Given the description of an element on the screen output the (x, y) to click on. 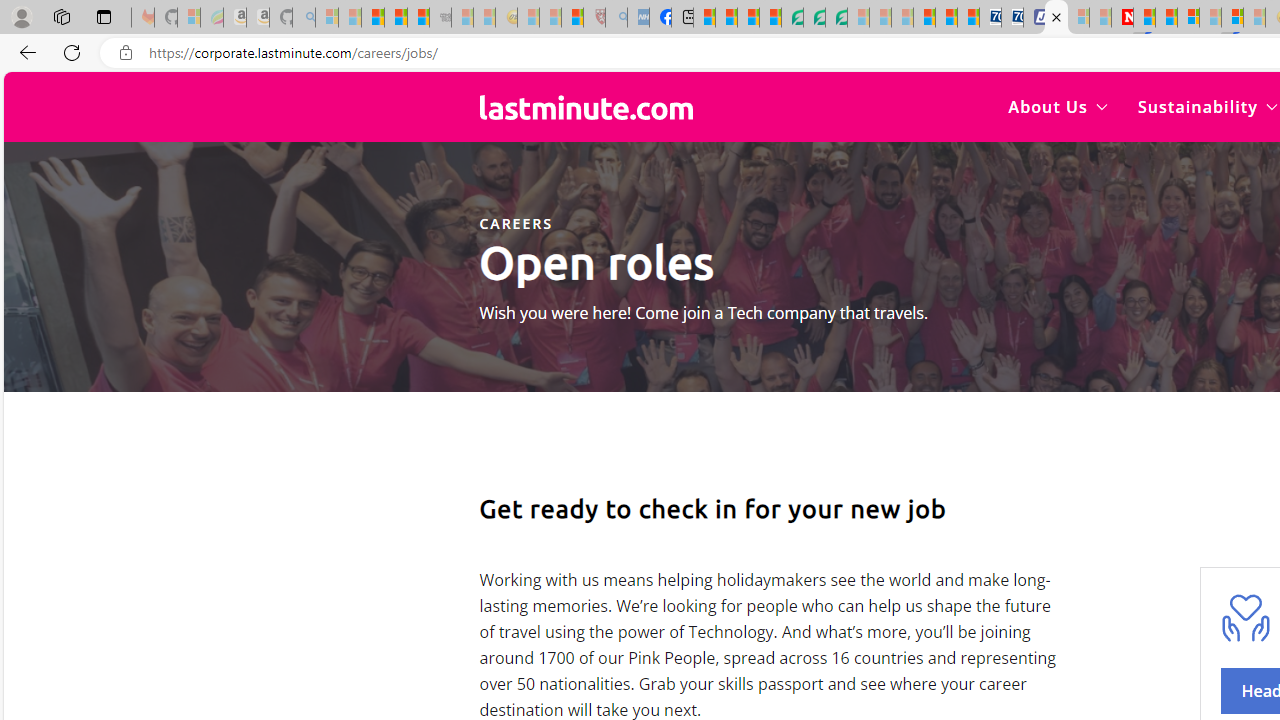
Microsoft account | Privacy - Sleeping (1078, 17)
Combat Siege (440, 17)
Back to home (585, 106)
Class: uk-svg (585, 107)
Microsoft Start - Sleeping (1100, 17)
Latest Politics News & Archive | Newsweek.com (1122, 17)
New Report Confirms 2023 Was Record Hot | Watch (418, 17)
Robert H. Shmerling, MD - Harvard Health - Sleeping (594, 17)
Sustainability (1206, 106)
list of asthma inhalers uk - Search - Sleeping (616, 17)
Personal Profile (21, 16)
